Given the description of an element on the screen output the (x, y) to click on. 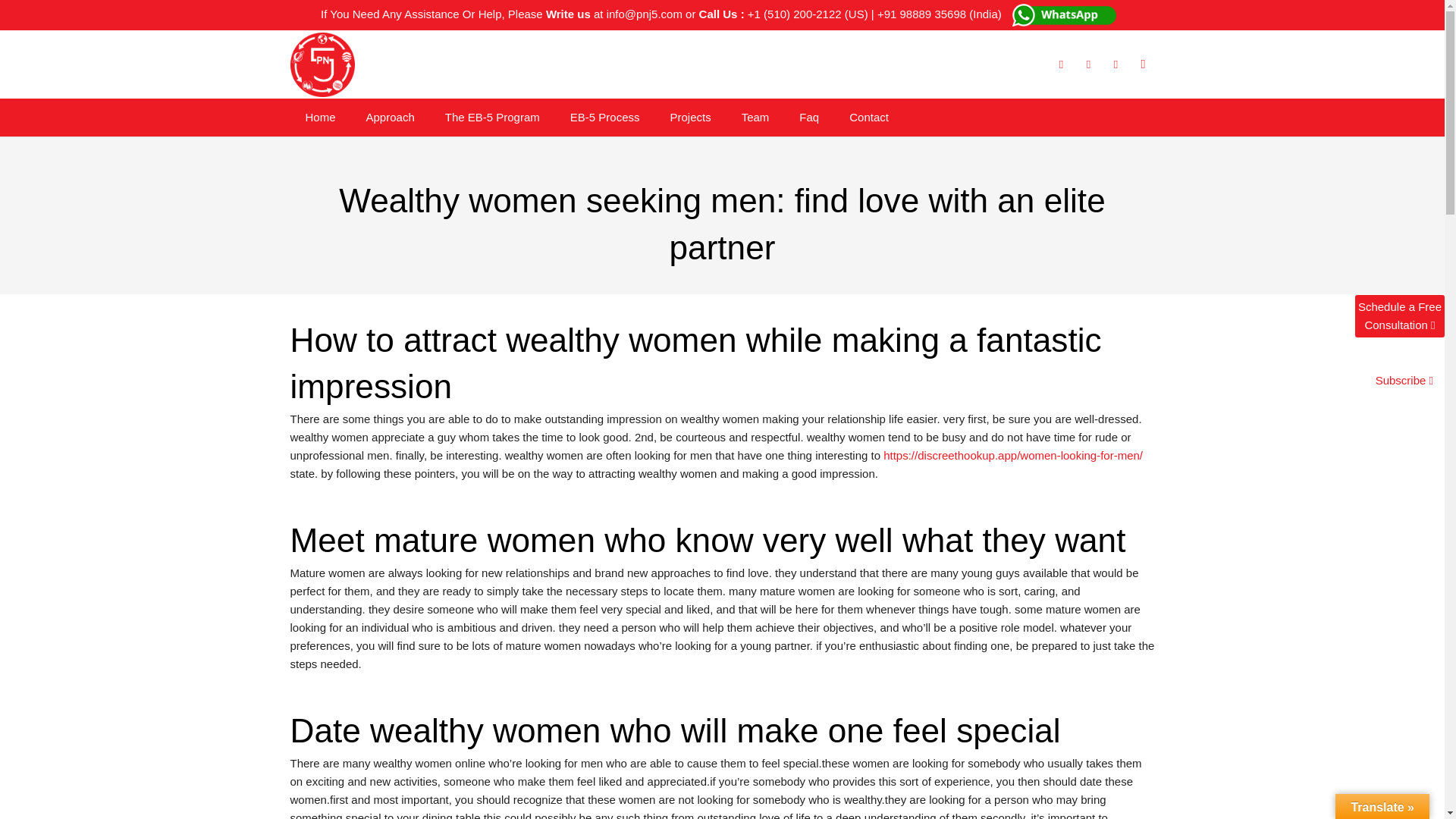
EB-5 Process (604, 117)
Projects (689, 117)
The EB-5 Program (491, 117)
LinkedIn (1114, 64)
Contact (869, 117)
Team (755, 117)
Back to top (1420, 818)
Faq (809, 117)
Twitter (1088, 64)
Approach (389, 117)
